Given the description of an element on the screen output the (x, y) to click on. 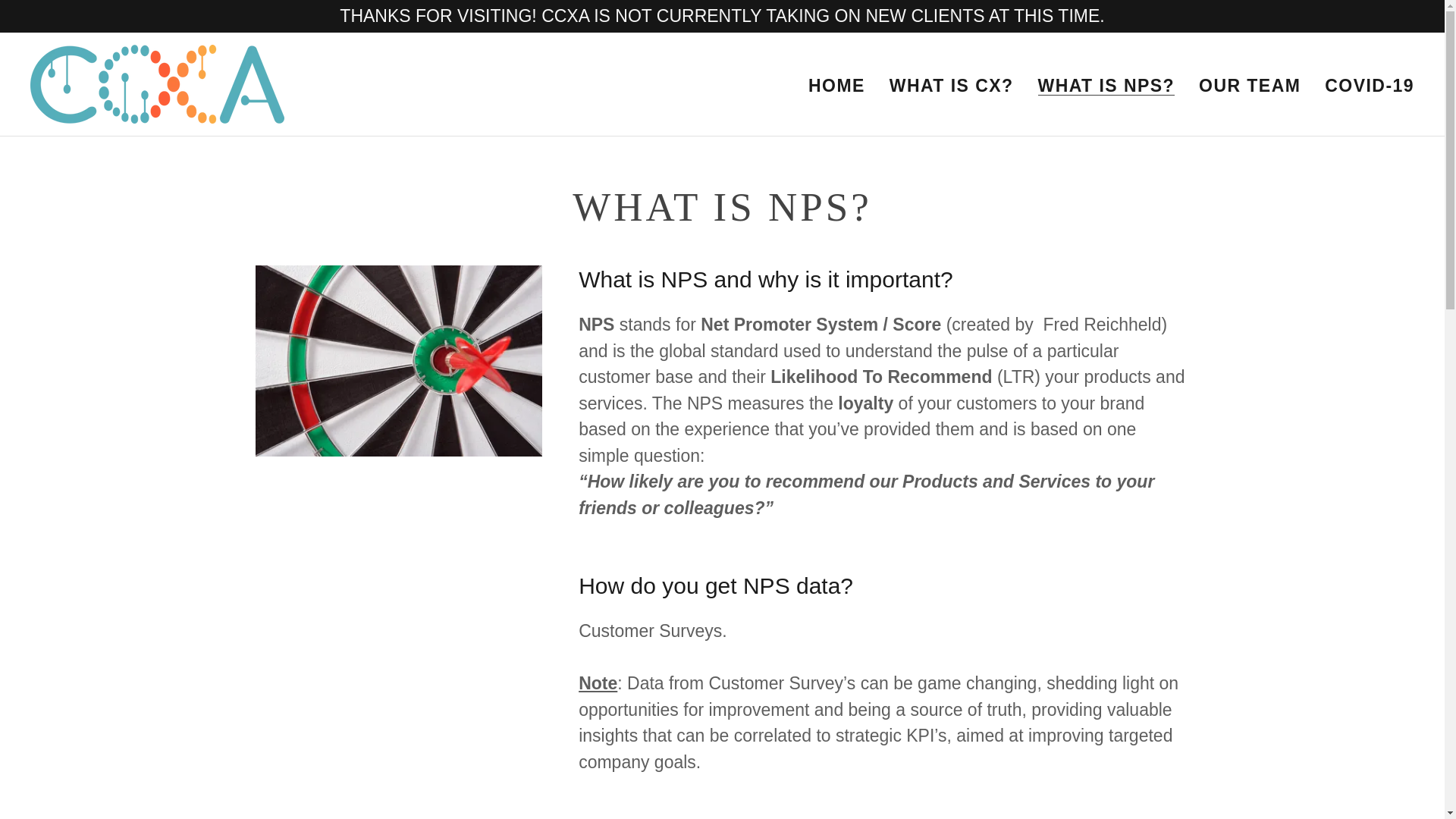
WHAT IS NPS? (1106, 85)
COVID-19 (1369, 85)
OUR TEAM (1248, 85)
HOME (836, 85)
WHAT IS CX? (951, 85)
improving your BUSINESS WITH the voice of THE CUSTOMER (156, 82)
